Given the description of an element on the screen output the (x, y) to click on. 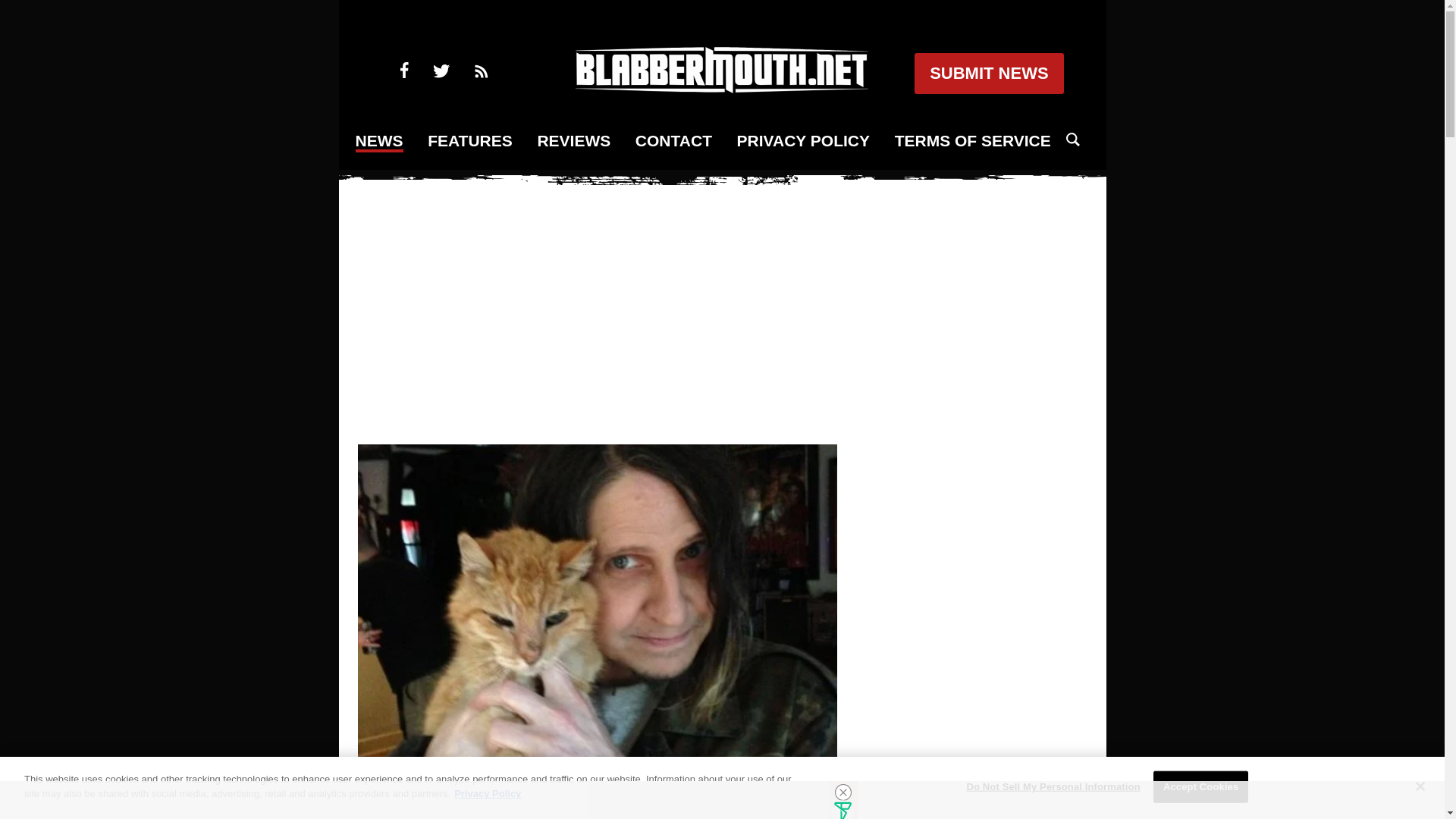
FEATURES (470, 140)
NEWS (379, 141)
REVIEWS (573, 140)
search icon (1072, 139)
SUBMIT NEWS (988, 73)
TERMS OF SERVICE (973, 140)
PRIVACY POLICY (802, 140)
CONTACT (672, 140)
blabbermouth (721, 88)
